Given the description of an element on the screen output the (x, y) to click on. 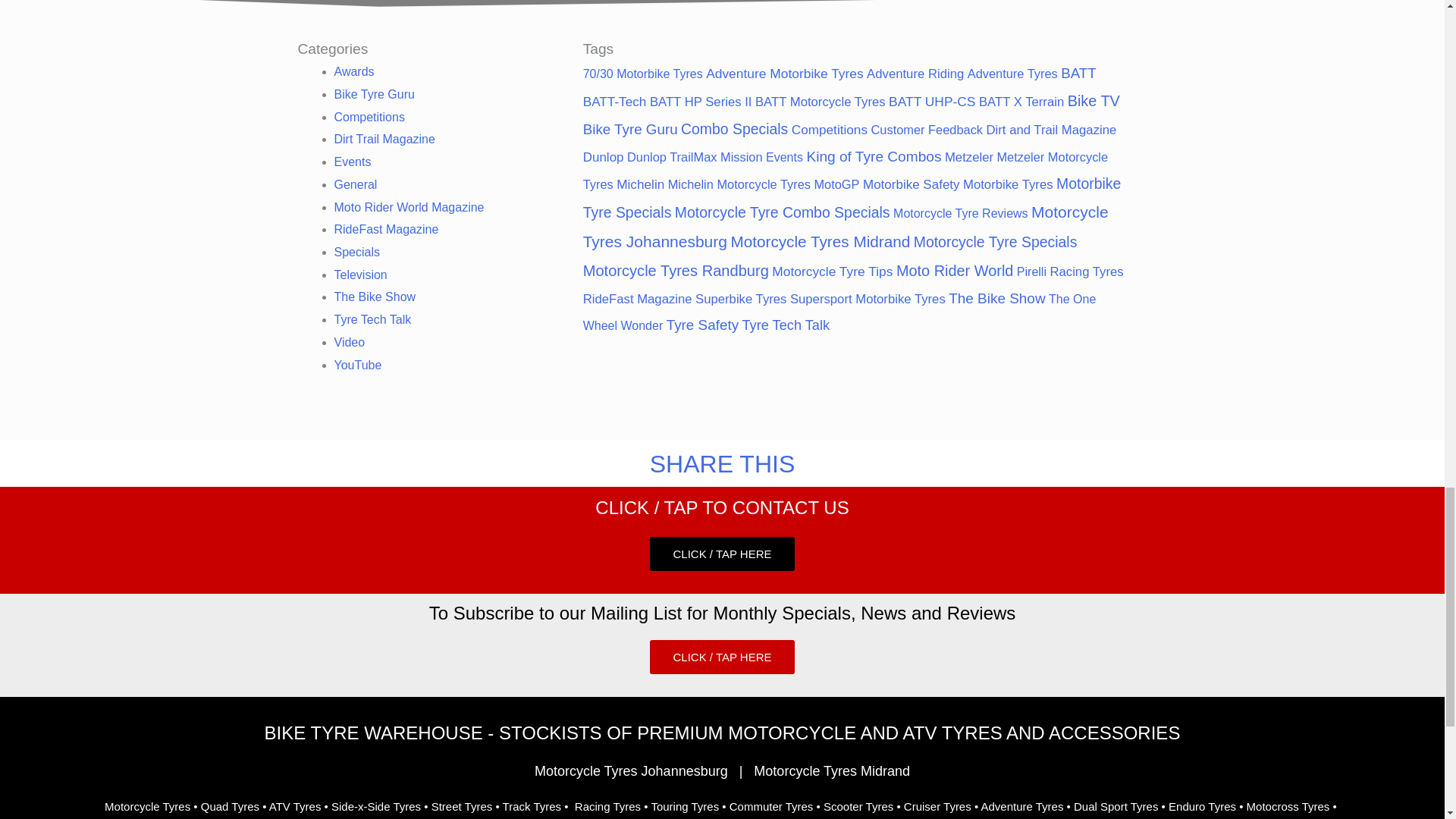
Dirt Trail Magazine (383, 138)
Awards (353, 71)
Moto Rider World Magazine (408, 206)
RideFast Magazine (385, 228)
Bike Tyre Guru (373, 93)
General (355, 184)
Competitions (368, 116)
Events (352, 161)
